Given the description of an element on the screen output the (x, y) to click on. 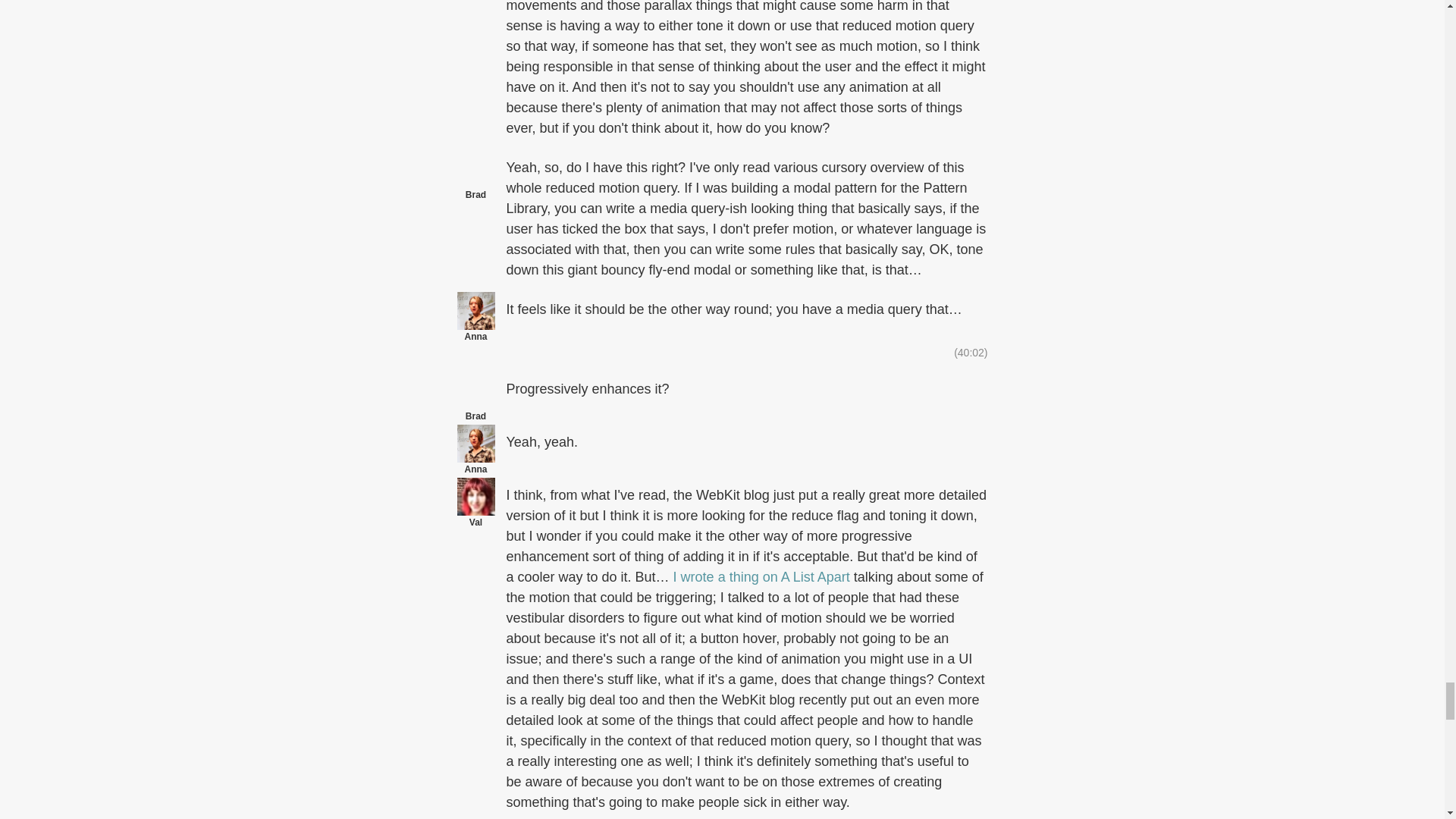
I wrote a thing on A List Apart (761, 576)
